Given the description of an element on the screen output the (x, y) to click on. 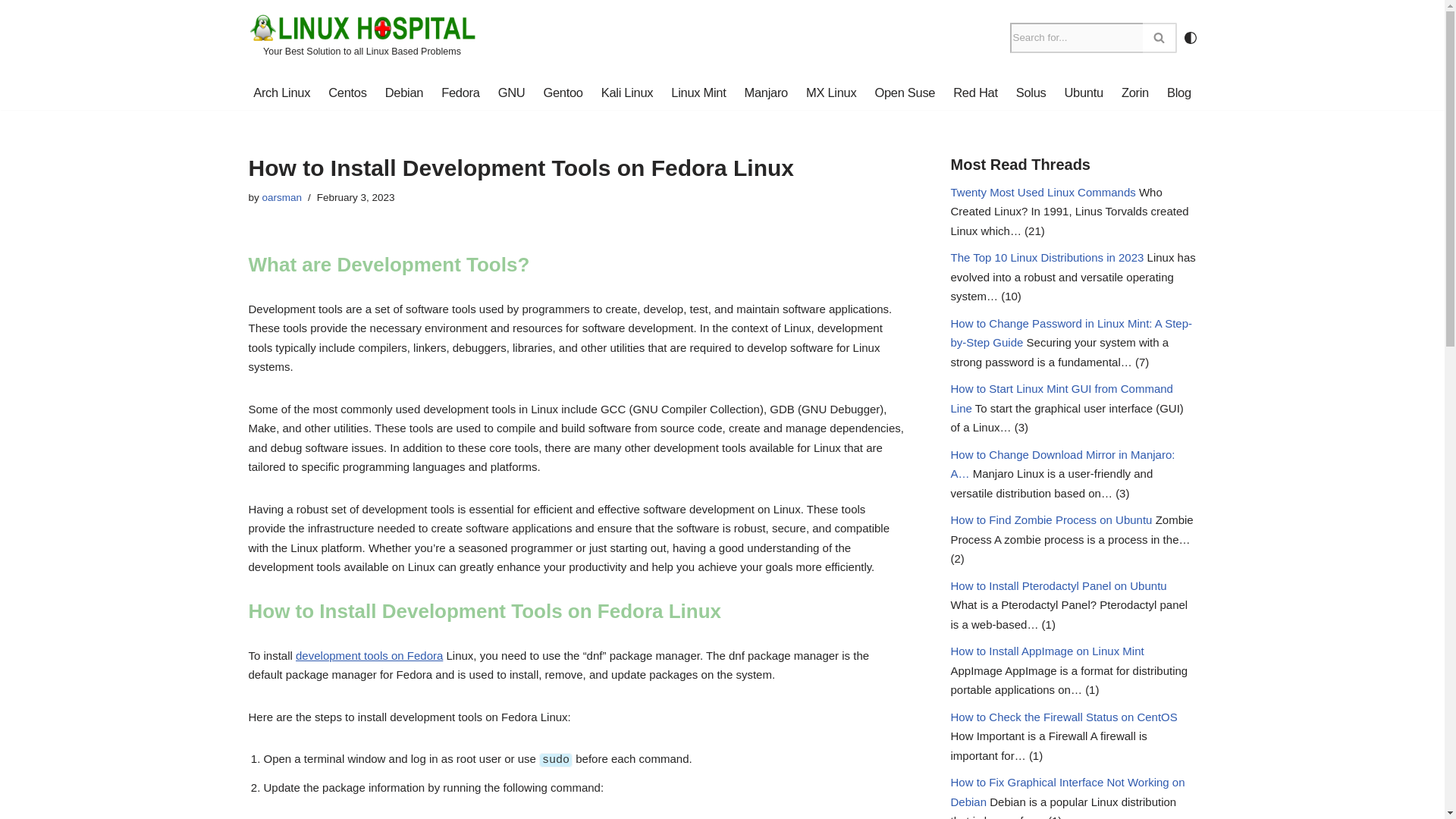
Your Best Solution to all Linux Based Problems (362, 37)
Fedora (460, 92)
GNU (511, 92)
Posts by oarsman (282, 197)
Zorin (1134, 92)
Kali Linux (627, 92)
Centos (347, 92)
Red Hat (975, 92)
Blog (1179, 92)
Linux Mint (698, 92)
Skip to content (11, 31)
Gentoo (562, 92)
Ubuntu (1083, 92)
MX Linux (831, 92)
